Given the description of an element on the screen output the (x, y) to click on. 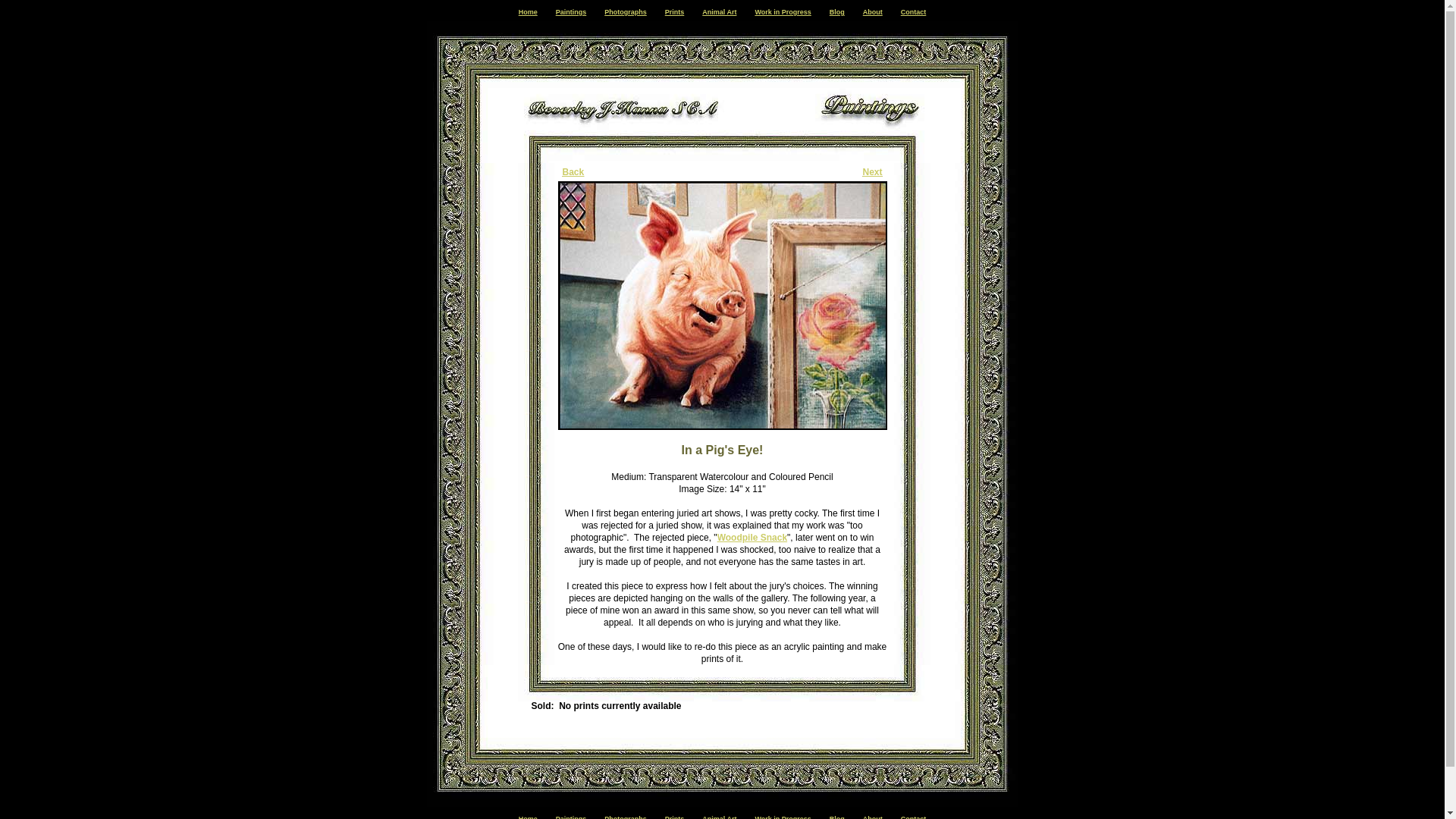
Work in Progress (782, 11)
Work in Progress (782, 816)
Paintings (571, 11)
Paintings (571, 816)
Woodpile Snack (752, 537)
About (872, 11)
Home (527, 816)
Animal Art (718, 816)
Contact (913, 11)
Prints (674, 11)
Next (871, 172)
Photographs (625, 816)
Back (573, 172)
Prints (674, 816)
Blog (836, 816)
